Given the description of an element on the screen output the (x, y) to click on. 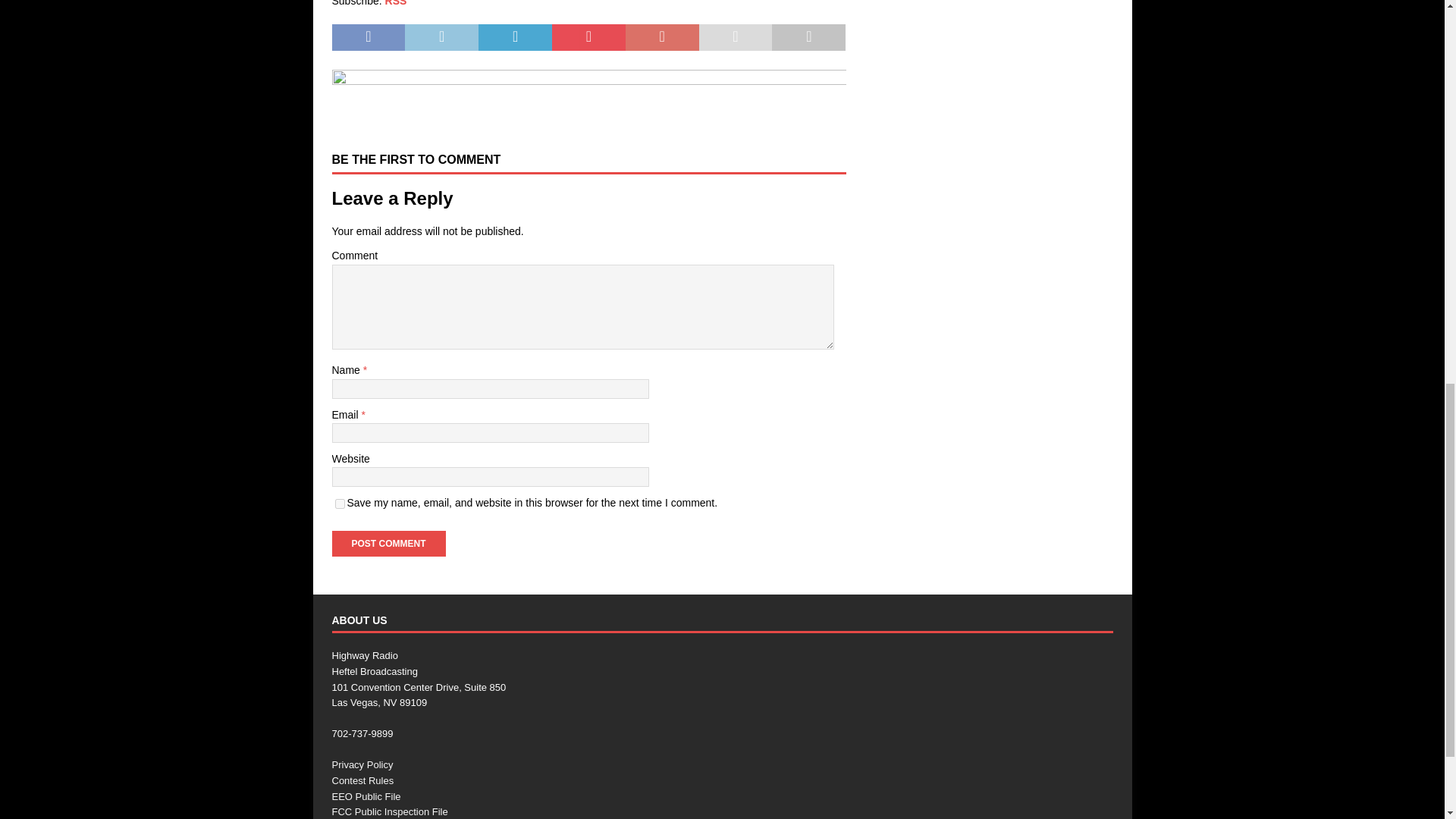
yes (339, 503)
Post Comment (388, 543)
Subscribe via RSS (396, 2)
